Given the description of an element on the screen output the (x, y) to click on. 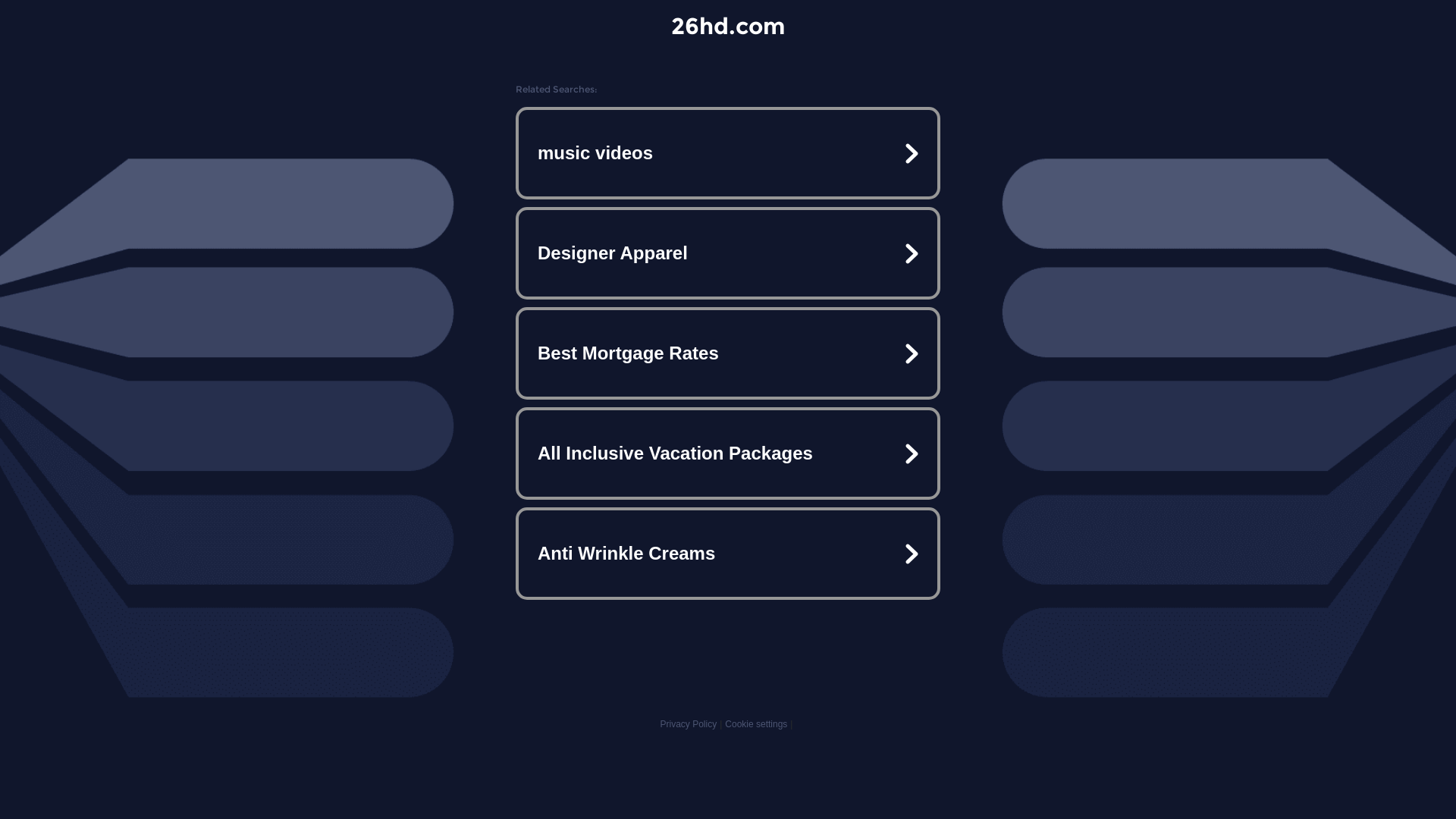
26hd.com Element type: text (727, 26)
Best Mortgage Rates Element type: text (727, 353)
All Inclusive Vacation Packages Element type: text (727, 453)
Anti Wrinkle Creams Element type: text (727, 553)
Privacy Policy Element type: text (687, 723)
Designer Apparel Element type: text (727, 253)
Cookie settings Element type: text (755, 723)
music videos Element type: text (727, 152)
